Given the description of an element on the screen output the (x, y) to click on. 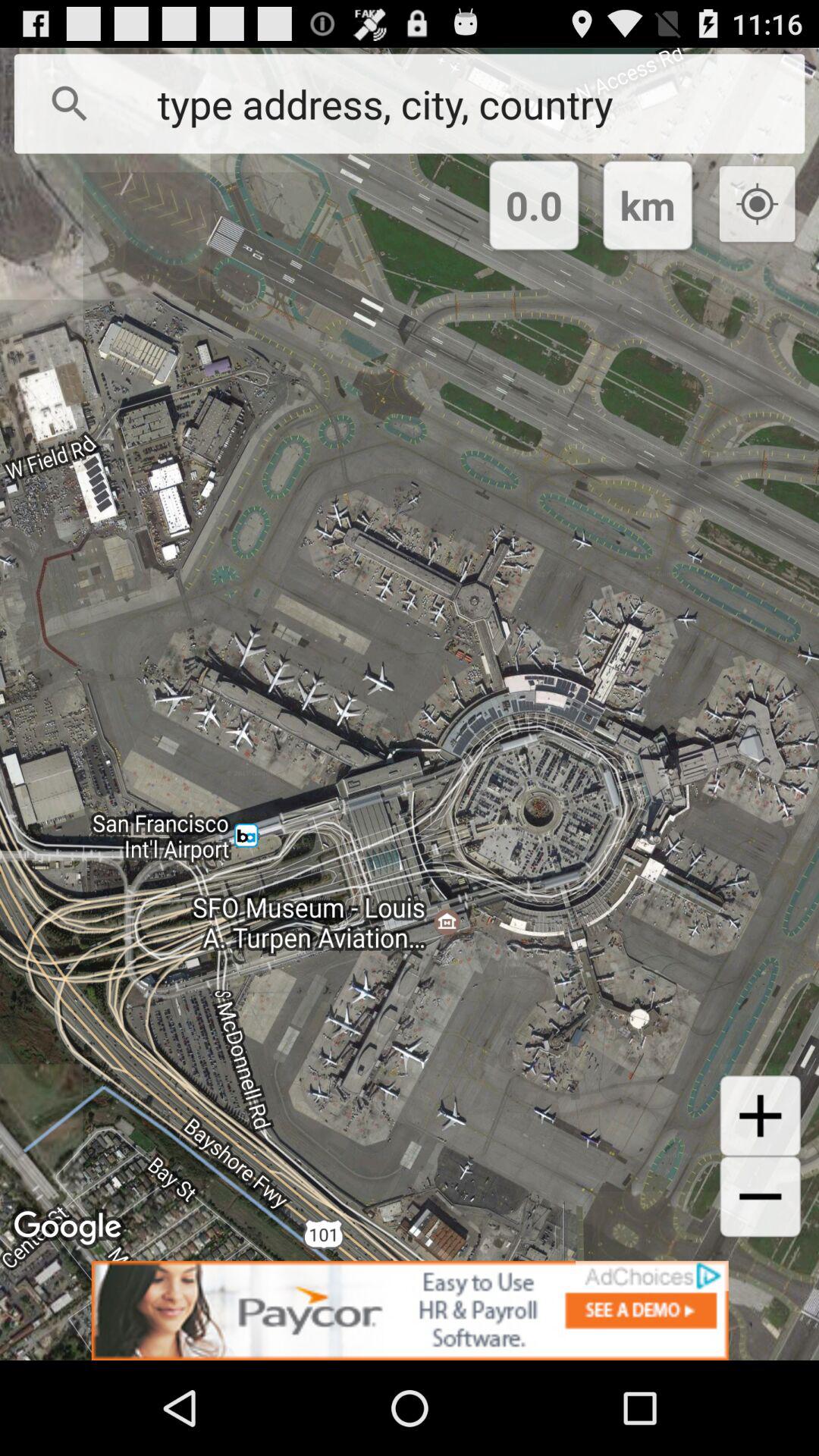
zoom in (760, 1115)
